Given the description of an element on the screen output the (x, y) to click on. 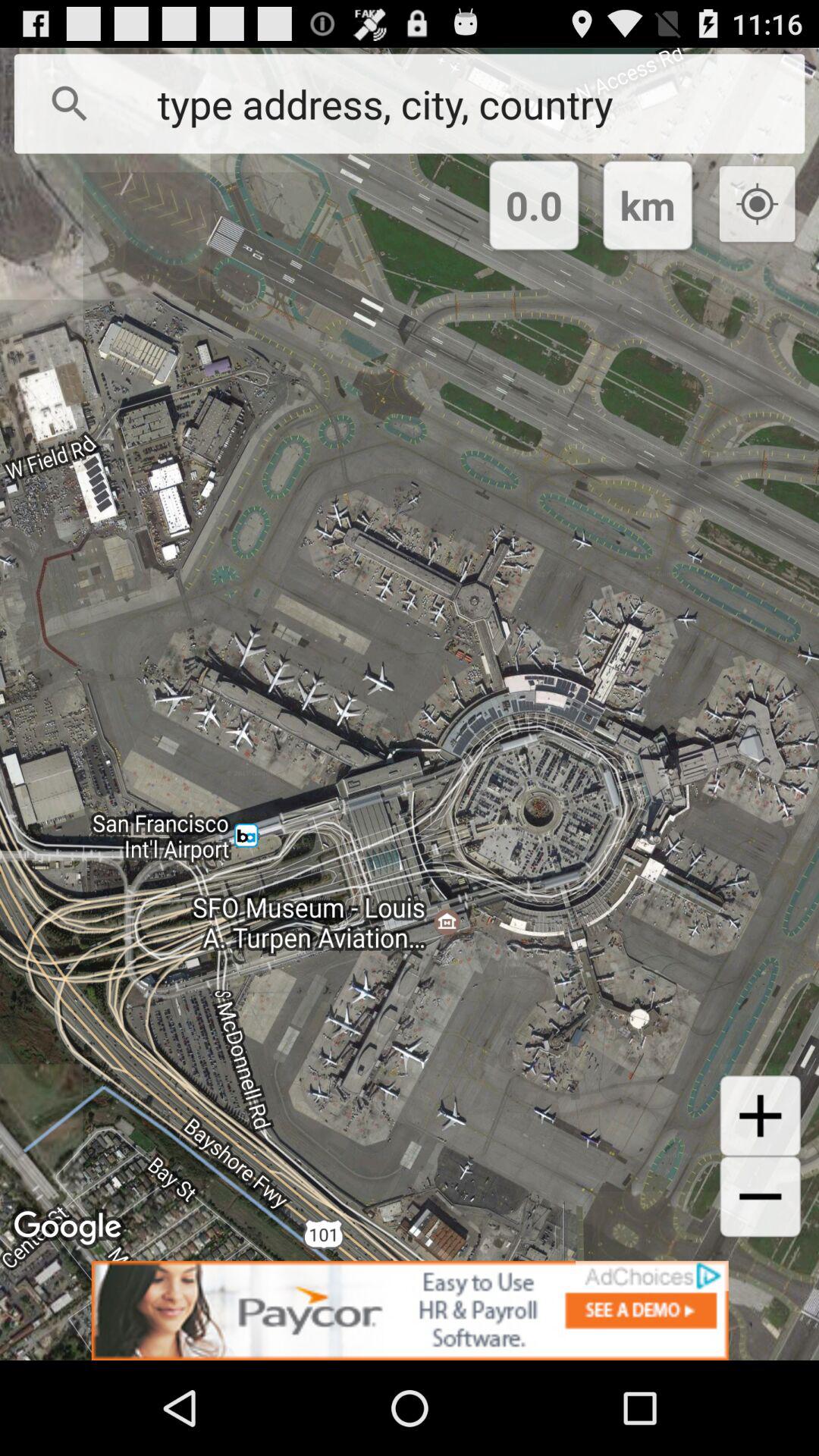
zoom in (760, 1115)
